Given the description of an element on the screen output the (x, y) to click on. 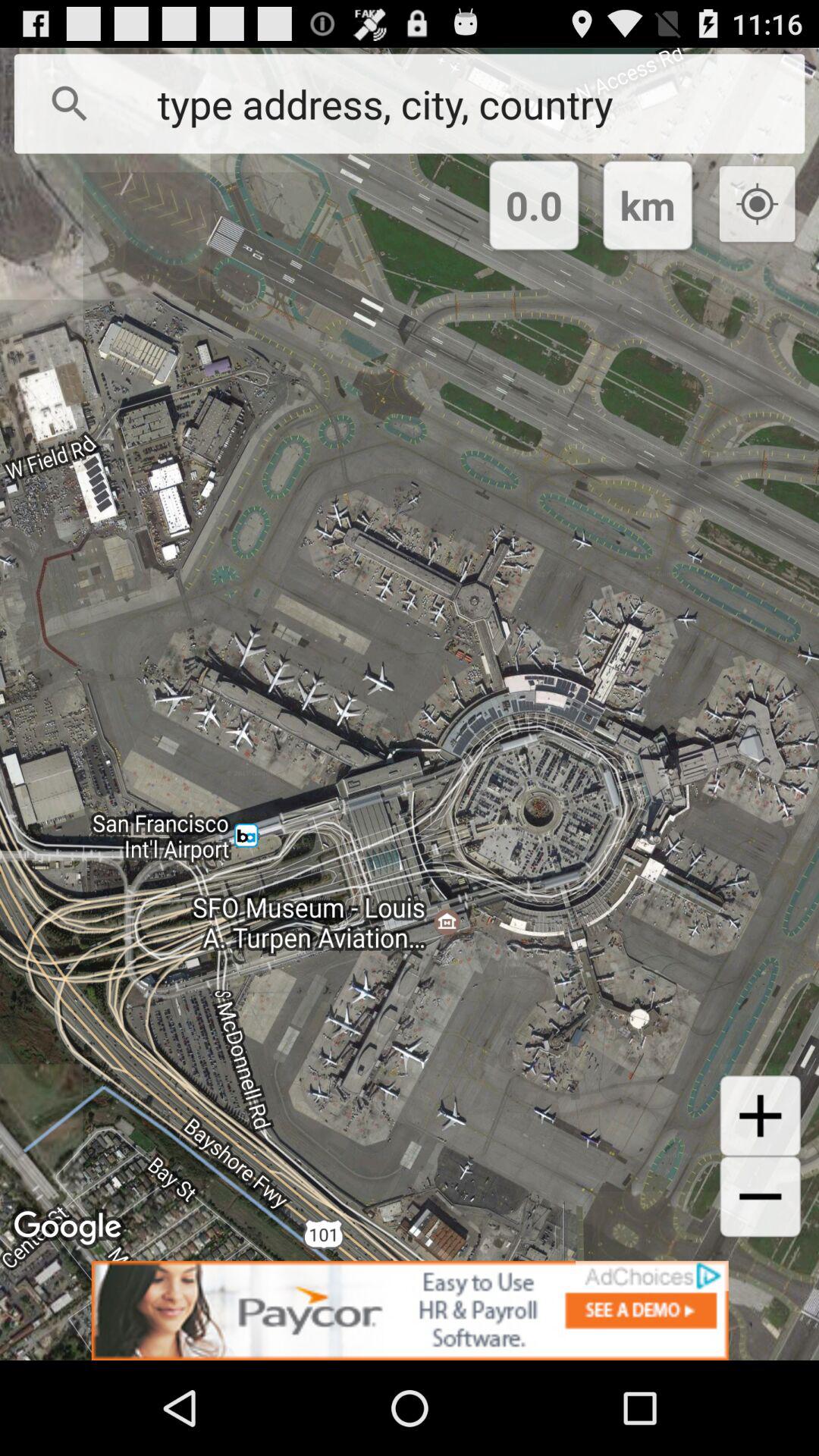
zoom in (760, 1115)
